Given the description of an element on the screen output the (x, y) to click on. 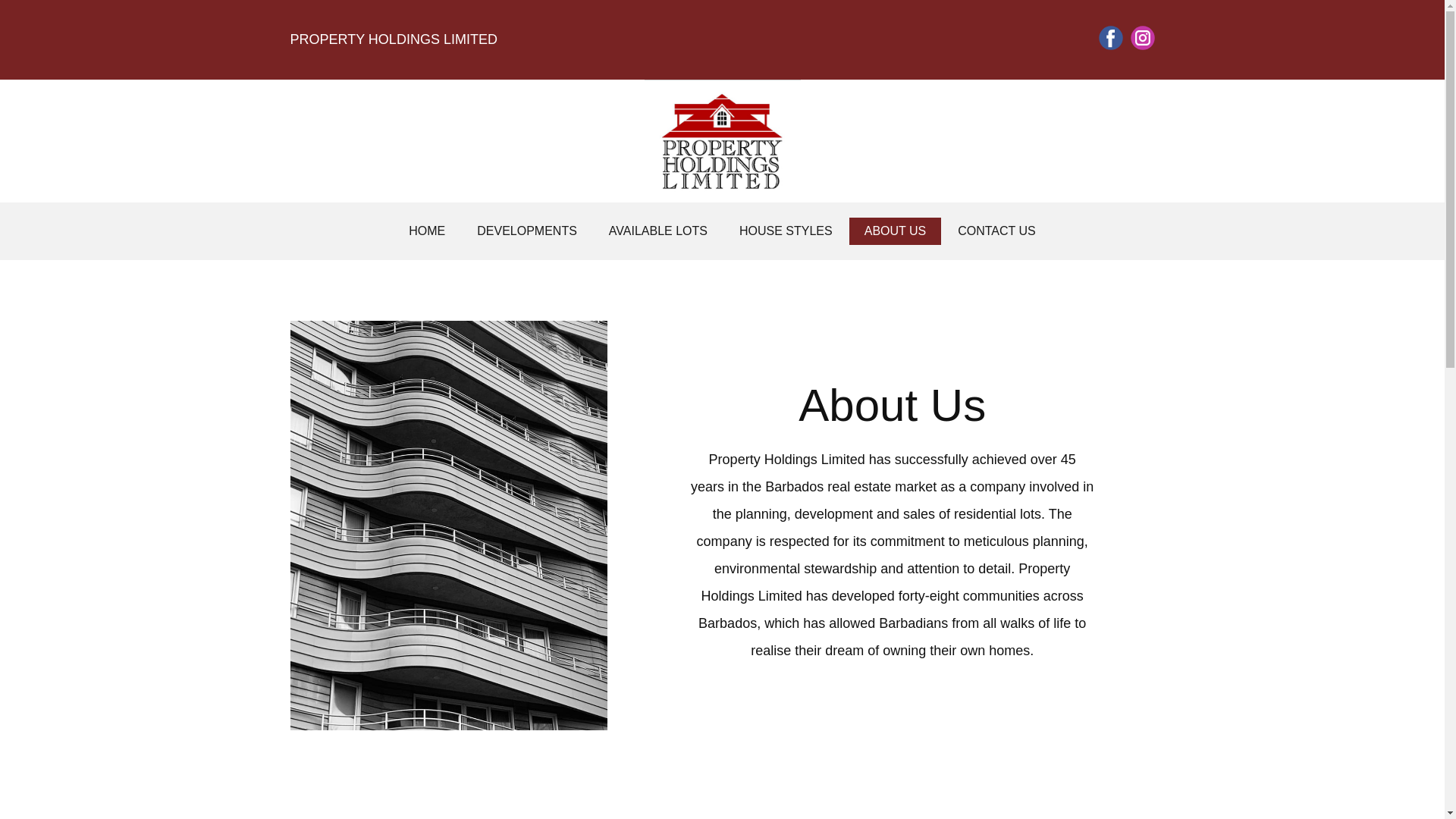
DEVELOPMENTS (526, 230)
HOME (426, 230)
ABOUT US (895, 230)
CONTACT US (996, 230)
Home (722, 140)
facebook (1109, 37)
instagram (1141, 37)
AVAILABLE LOTS (658, 230)
HOUSE STYLES (785, 230)
